Given the description of an element on the screen output the (x, y) to click on. 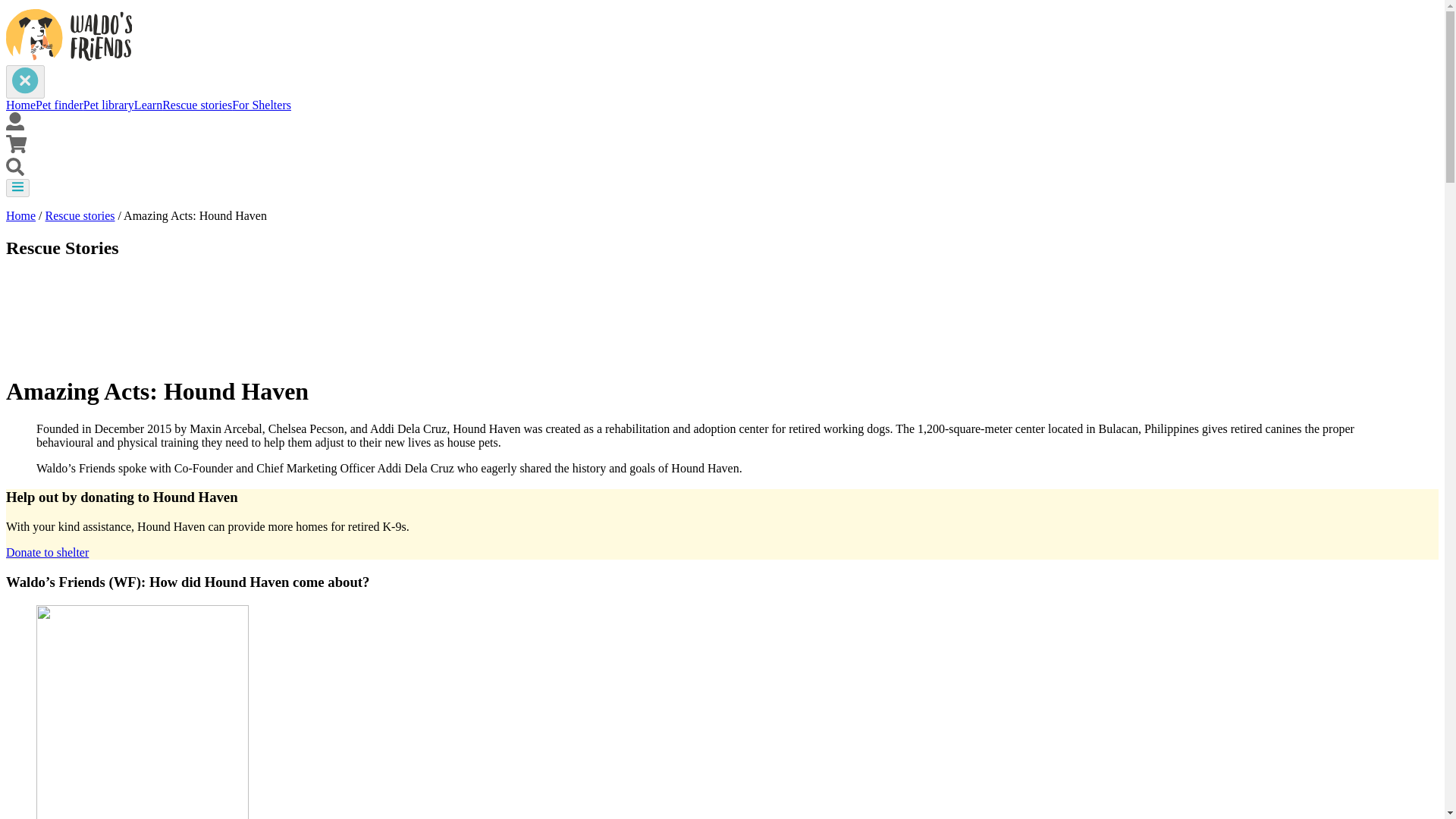
Learn (147, 104)
Pet finder (58, 104)
Donate to shelter (46, 552)
Rescue stories (80, 215)
For Shelters (261, 104)
Rescue stories (196, 104)
Home (19, 215)
Pet library (107, 104)
Home (19, 104)
